Given the description of an element on the screen output the (x, y) to click on. 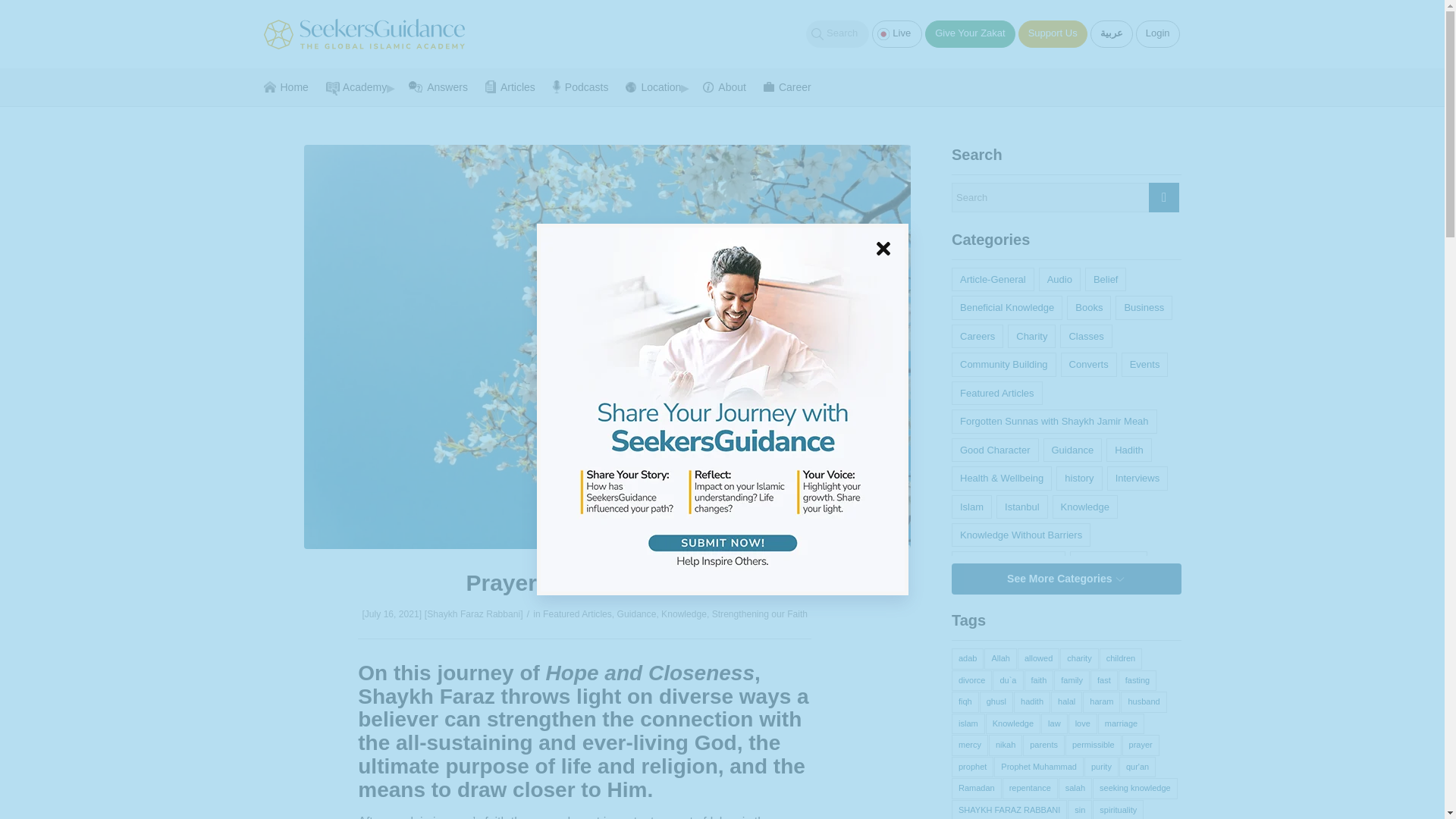
Location (658, 86)
Live (896, 33)
Hope and Closeness (650, 672)
Podcasts (585, 86)
Guidance (636, 614)
Career (786, 86)
Give Your Zakat (969, 33)
About (729, 86)
Answers (443, 86)
Articles (514, 86)
Close (882, 248)
Search (837, 33)
Strengthening our Faith (759, 614)
Support Us (1052, 33)
